Given the description of an element on the screen output the (x, y) to click on. 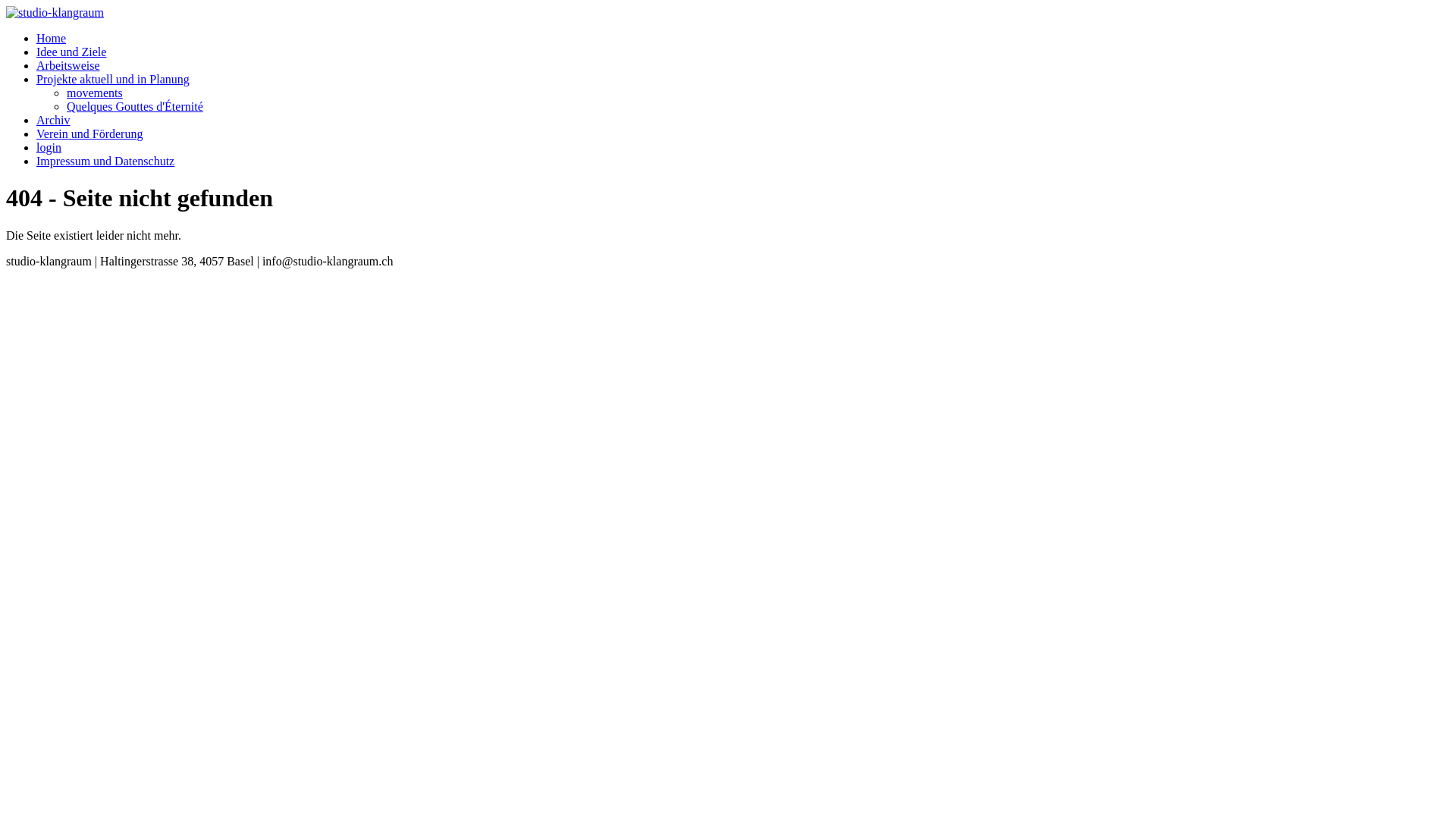
movements Element type: text (94, 92)
Home Element type: text (50, 37)
Arbeitsweise Element type: text (68, 65)
Projekte aktuell und in Planung Element type: text (112, 78)
Impressum und Datenschutz Element type: text (105, 160)
login Element type: text (48, 147)
Idee und Ziele Element type: text (71, 51)
Archiv Element type: text (52, 119)
